Given the description of an element on the screen output the (x, y) to click on. 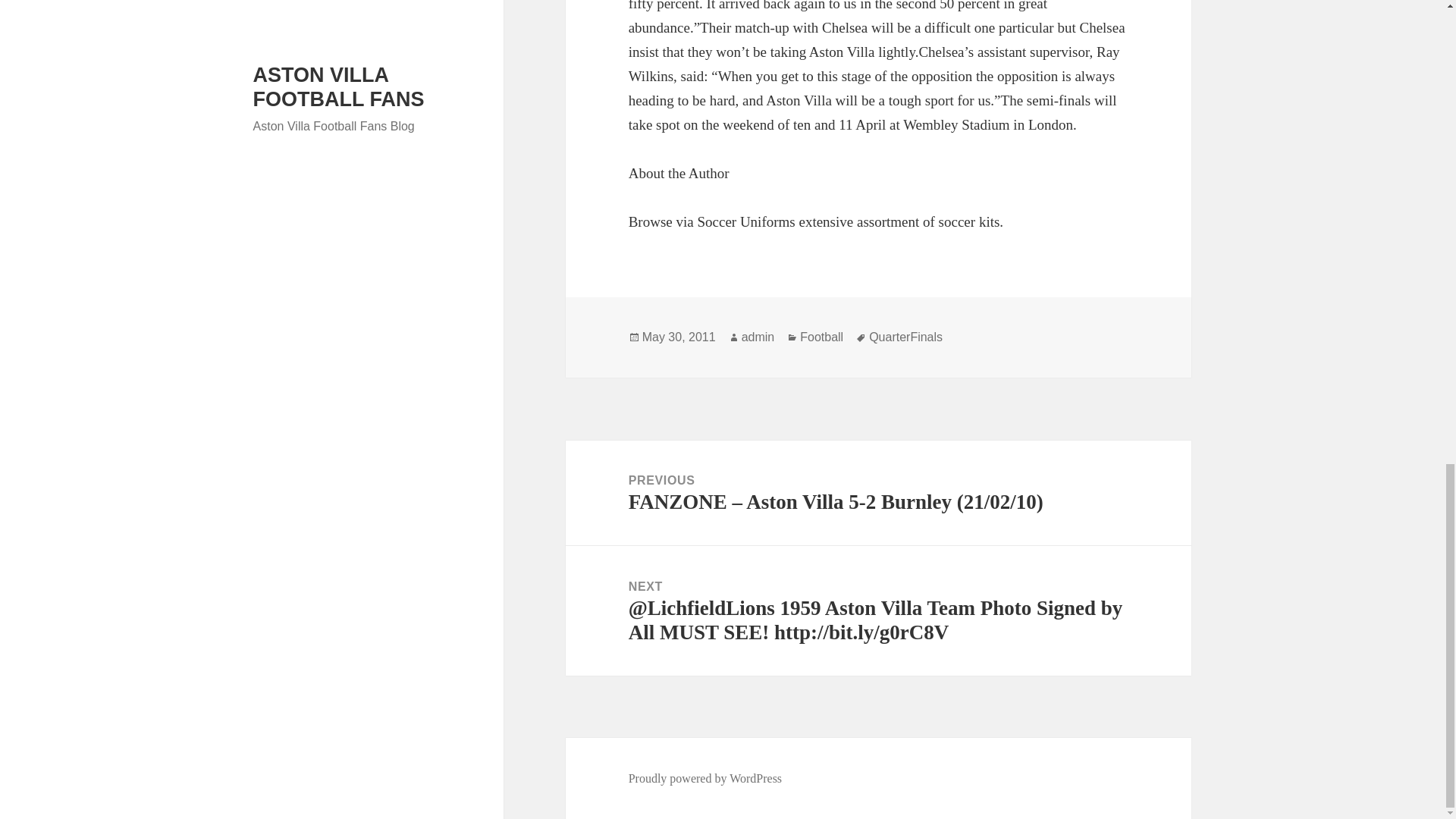
QuarterFinals (905, 336)
Football (821, 336)
admin (757, 336)
Proudly powered by WordPress (704, 778)
May 30, 2011 (679, 336)
